Given the description of an element on the screen output the (x, y) to click on. 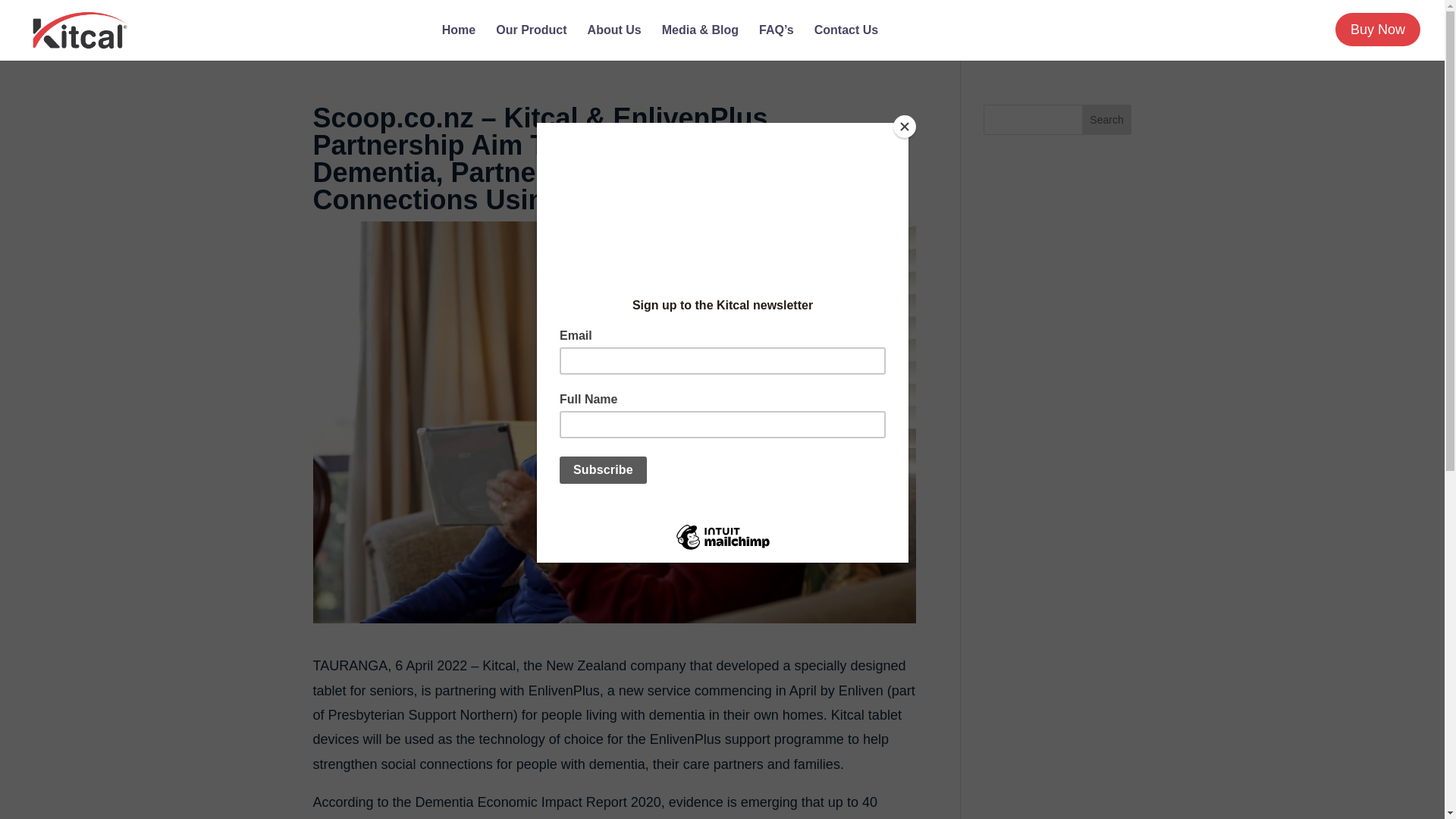
Contact Us (845, 42)
Home (459, 42)
Our Product (531, 42)
Search (1106, 119)
Search (1106, 119)
Buy Now (1378, 29)
About Us (615, 42)
